Given the description of an element on the screen output the (x, y) to click on. 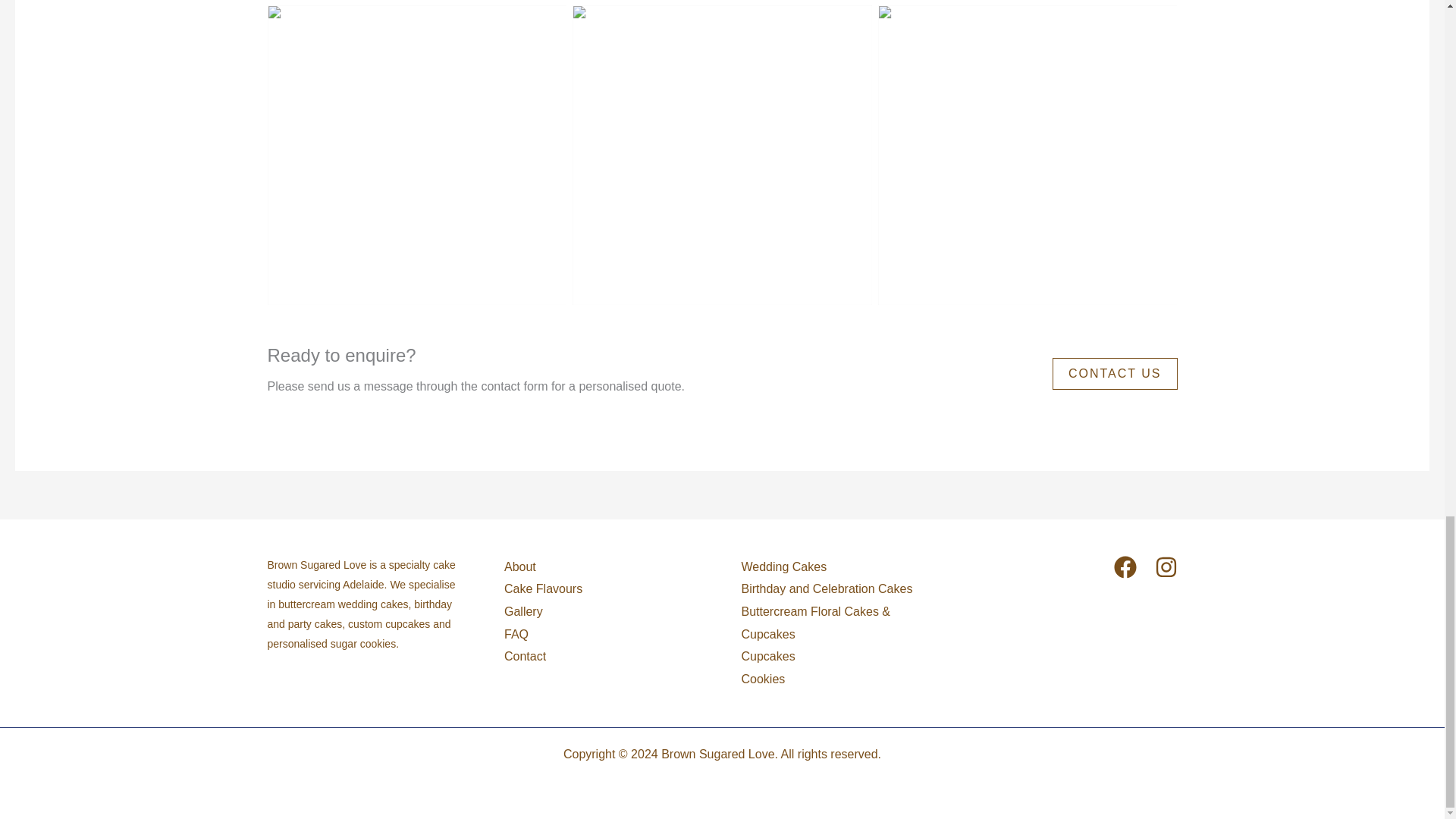
Contact (524, 656)
Gallery (523, 611)
Cake Flavours (542, 589)
About (519, 567)
Birthday and Celebration Cakes (826, 588)
CONTACT US (1114, 373)
Wedding Cakes (784, 566)
FAQ (515, 634)
